Given the description of an element on the screen output the (x, y) to click on. 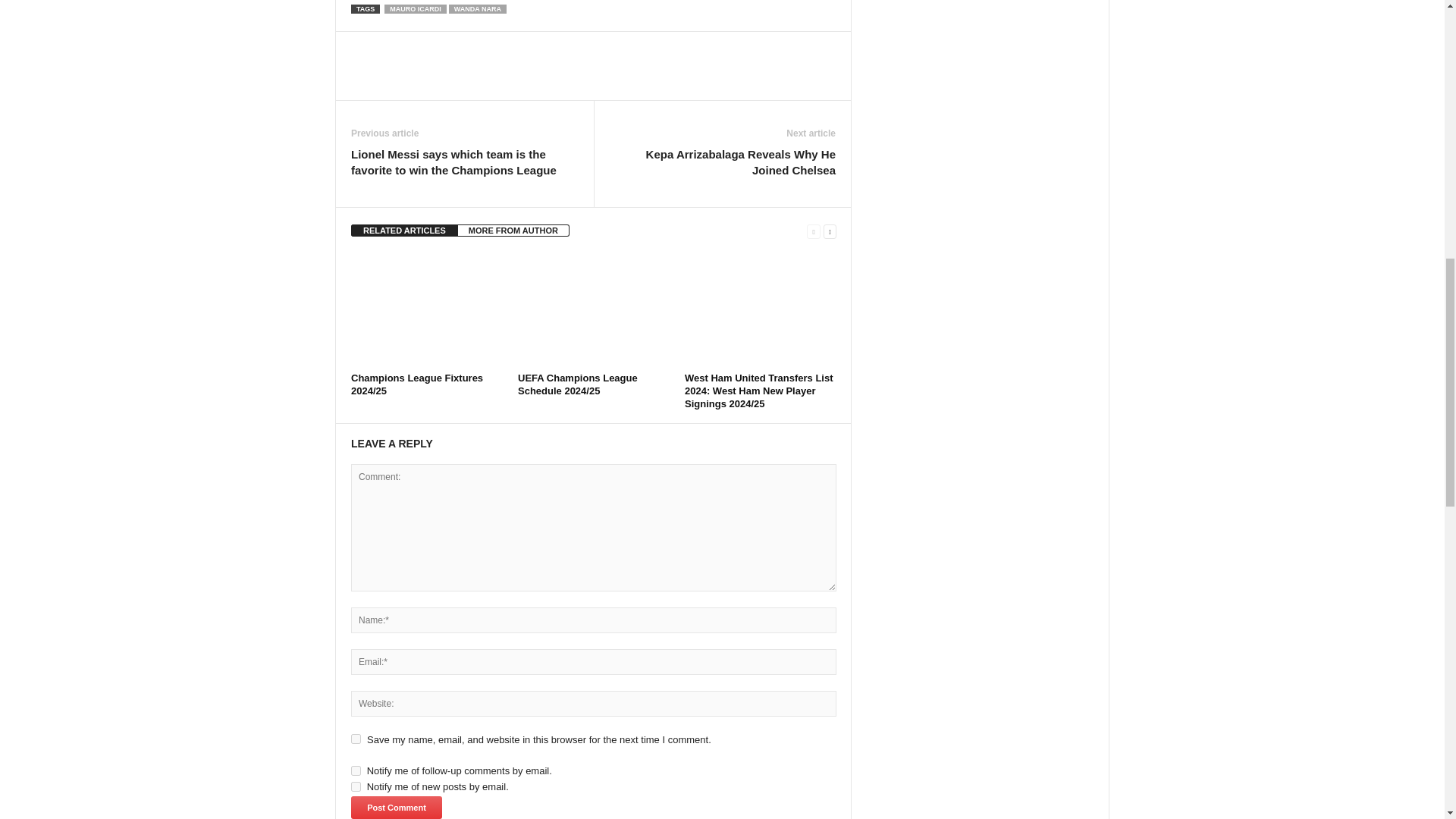
Post Comment (396, 807)
subscribe (355, 786)
yes (355, 738)
subscribe (355, 770)
